Given the description of an element on the screen output the (x, y) to click on. 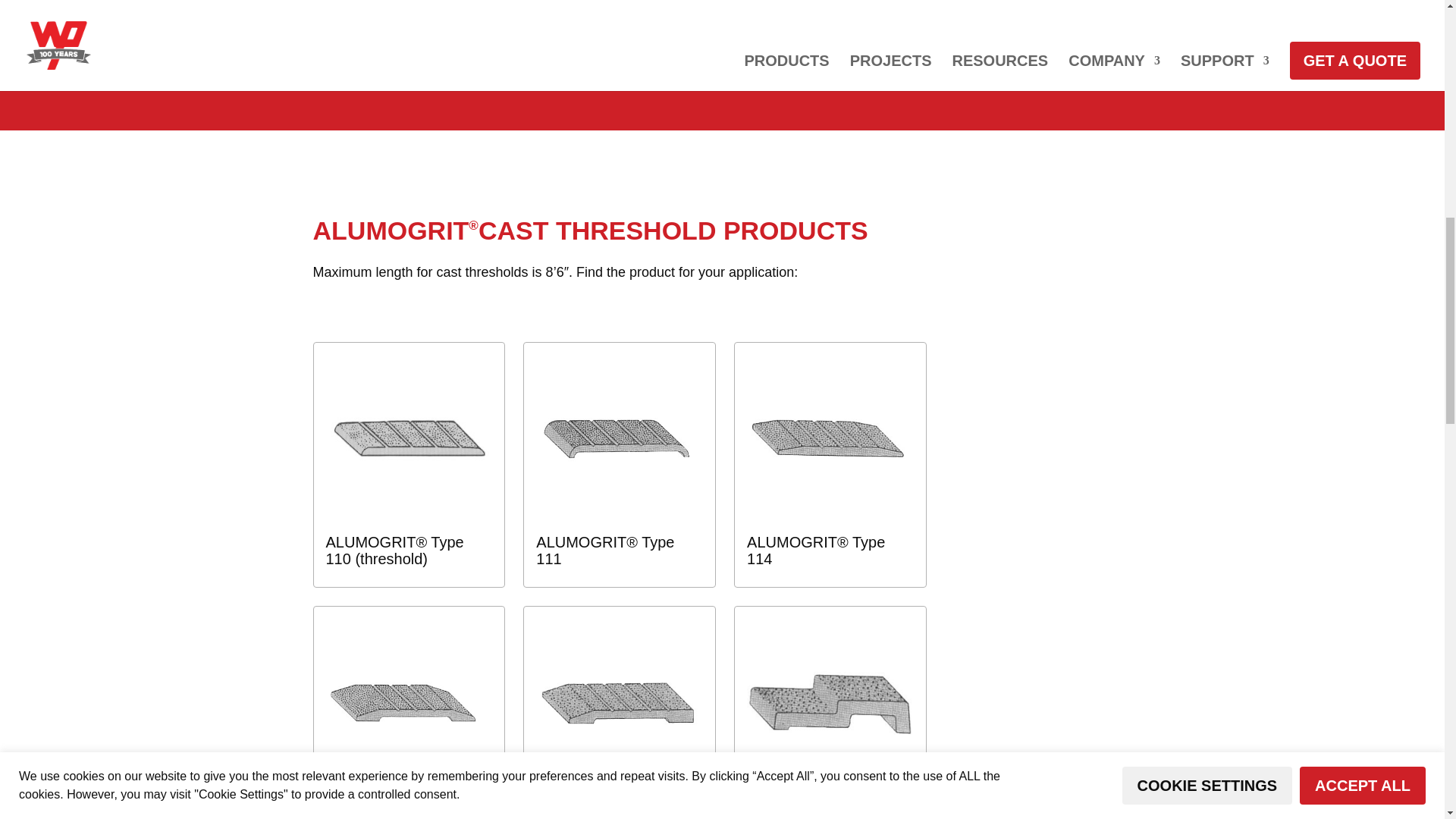
Leed Cast Iron (377, 17)
